Given the description of an element on the screen output the (x, y) to click on. 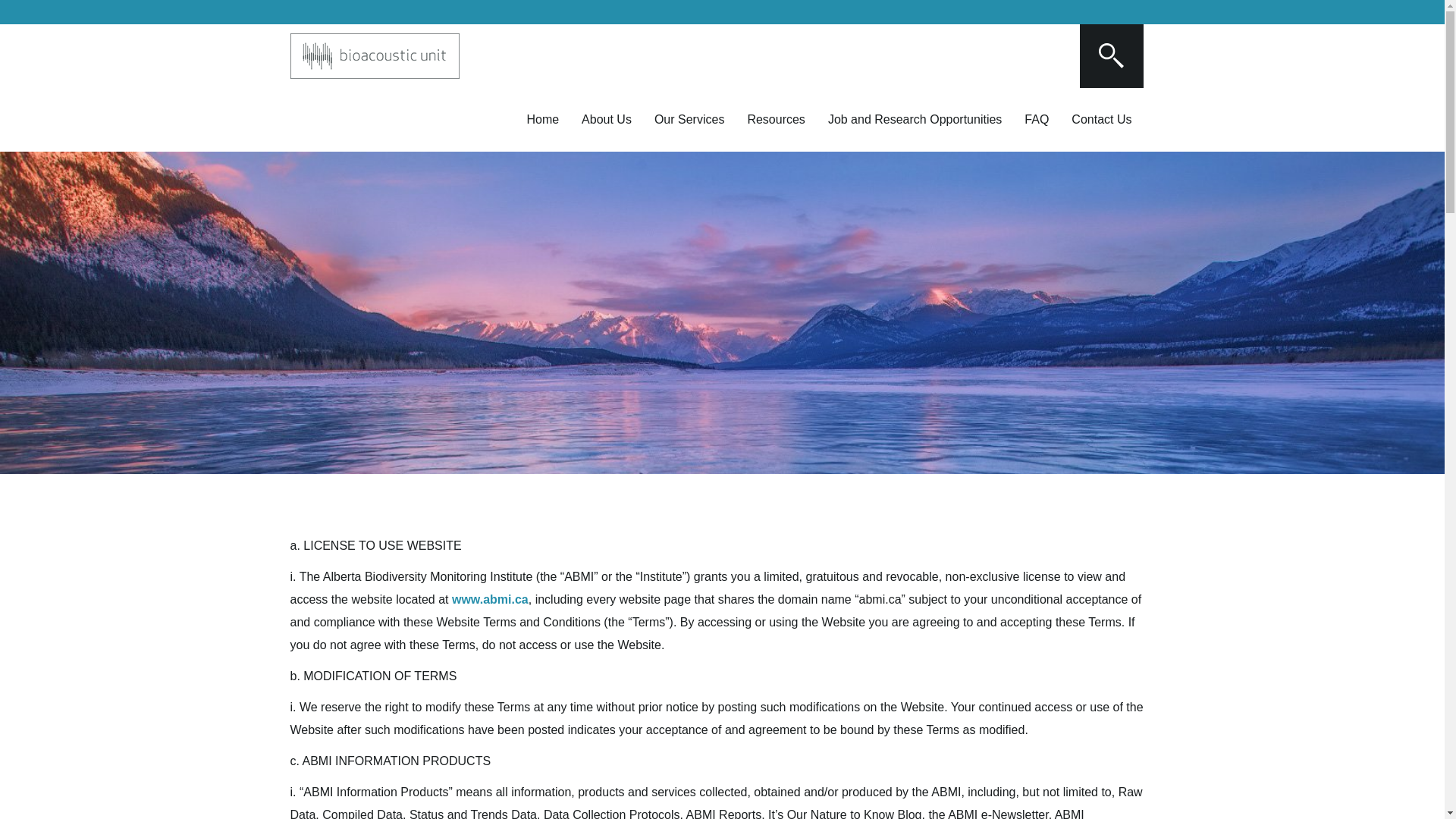
FAQ Element type: text (1036, 119)
Contact Us Element type: text (1101, 119)
Our Services Element type: text (689, 119)
www.abmi.ca Element type: text (489, 599)
Job and Research Opportunities Element type: text (914, 119)
Home Element type: text (542, 119)
About Us Element type: text (606, 119)
Resources Element type: text (775, 119)
